Given the description of an element on the screen output the (x, y) to click on. 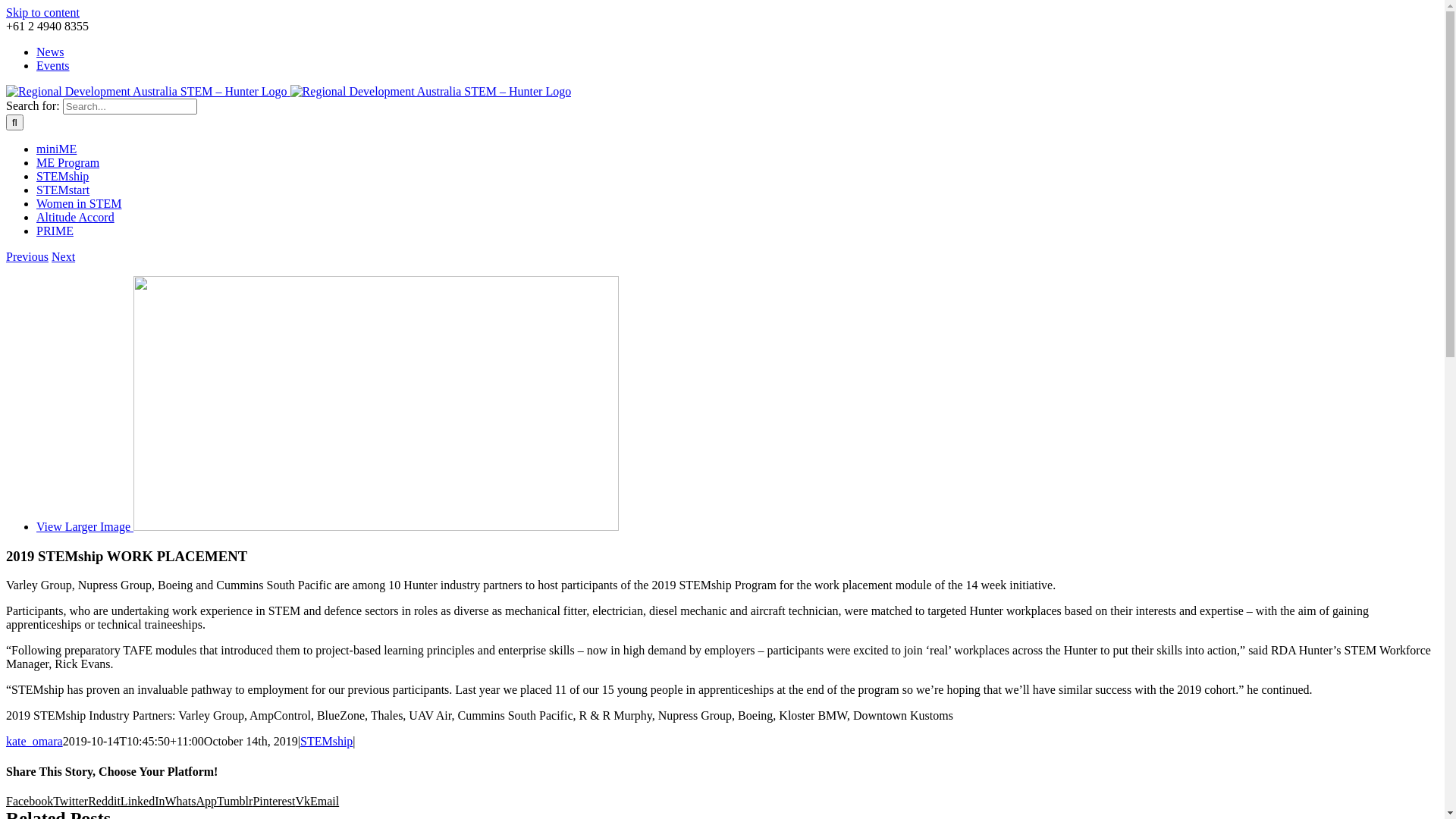
ME Program Element type: text (67, 162)
LinkedIn Element type: text (142, 800)
STEMship Element type: text (326, 740)
STEMship Element type: text (62, 175)
Next Element type: text (63, 256)
Previous Element type: text (27, 256)
PRIME Element type: text (54, 230)
Vk Element type: text (302, 800)
WhatsApp Element type: text (190, 800)
Events Element type: text (52, 65)
Facebook Element type: text (29, 800)
Women in STEM Element type: text (78, 203)
Altitude Accord Element type: text (75, 216)
View Larger Image Element type: text (327, 526)
Pinterest Element type: text (273, 800)
Twitter Element type: text (70, 800)
Tumblr Element type: text (234, 800)
News Element type: text (49, 51)
miniME Element type: text (56, 148)
STEMstart Element type: text (62, 189)
kate_omara Element type: text (34, 740)
Reddit Element type: text (103, 800)
Skip to content Element type: text (42, 12)
Email Element type: text (324, 800)
